Given the description of an element on the screen output the (x, y) to click on. 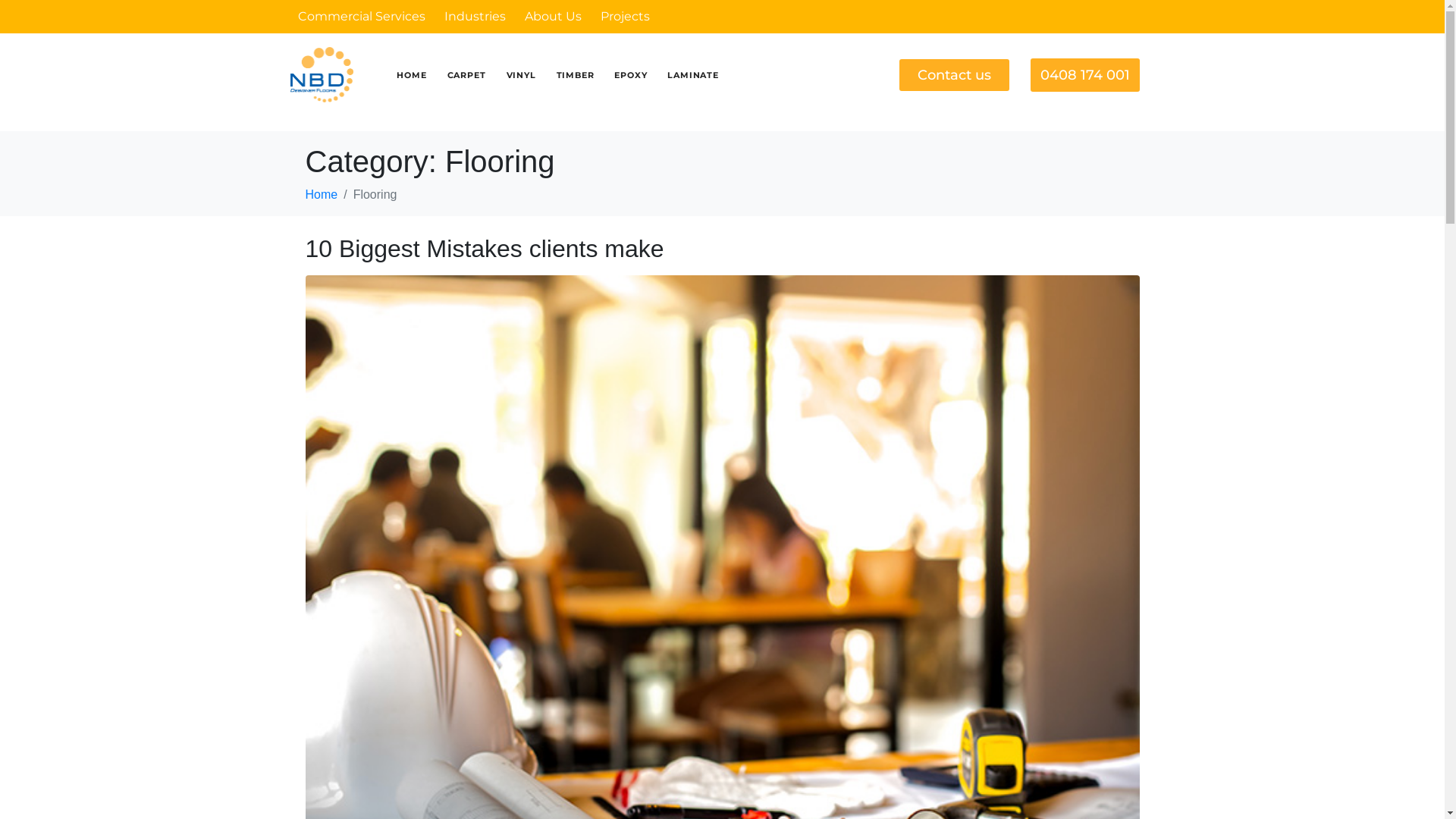
VINYL Element type: text (521, 74)
HOME Element type: text (411, 74)
EPOXY Element type: text (630, 74)
Commercial Services Element type: text (360, 16)
Projects Element type: text (624, 16)
Contact us Element type: text (954, 75)
Home Element type: text (320, 194)
0408 174 001 Element type: text (1084, 74)
About Us Element type: text (552, 16)
CARPET Element type: text (466, 74)
10 Biggest Mistakes clients make Element type: text (483, 248)
Industries Element type: text (474, 16)
10 Biggest Mistakes clients make Element type: hover (721, 645)
LAMINATE Element type: text (692, 74)
TIMBER Element type: text (575, 74)
